Given the description of an element on the screen output the (x, y) to click on. 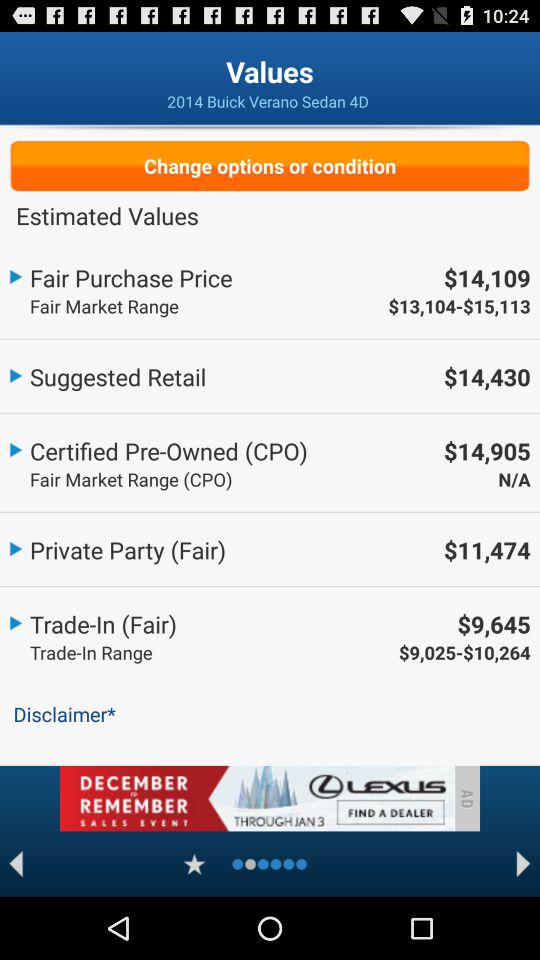
go back (16, 864)
